Given the description of an element on the screen output the (x, y) to click on. 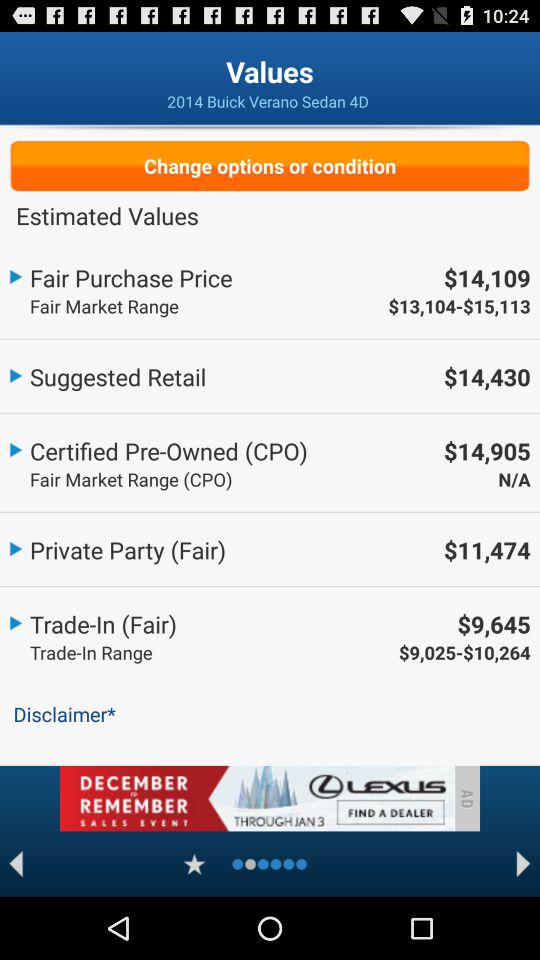
go back (16, 864)
